Given the description of an element on the screen output the (x, y) to click on. 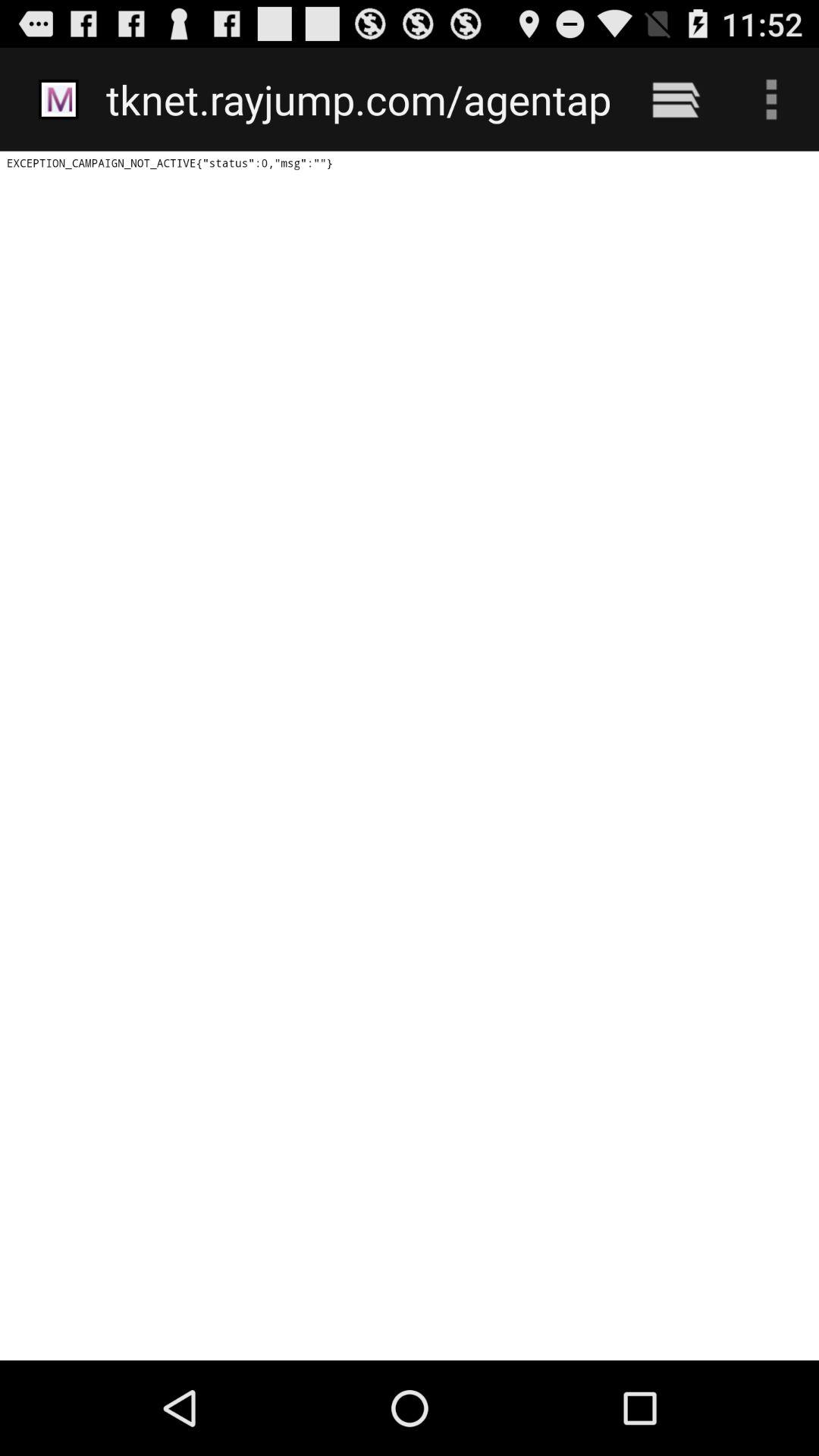
jump to the tknet rayjump com item (357, 99)
